Given the description of an element on the screen output the (x, y) to click on. 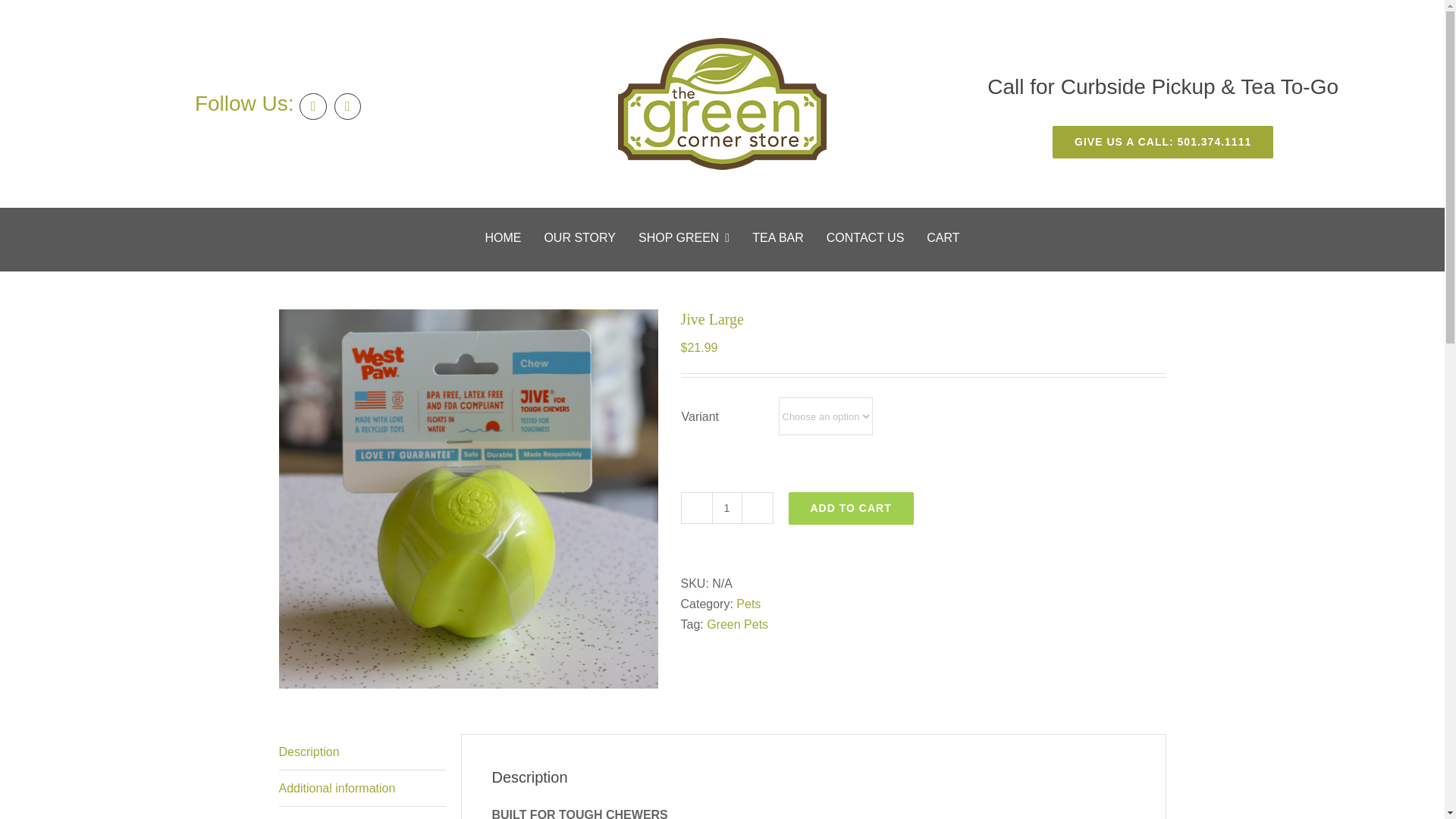
Additional information (362, 788)
Green Pets (737, 624)
ADD TO CART (851, 508)
SHOP GREEN (684, 232)
give us a call 501.374.1111 (1162, 142)
CONTACT US (865, 232)
OUR STORY (579, 232)
CART (943, 232)
Pets (748, 603)
